Given the description of an element on the screen output the (x, y) to click on. 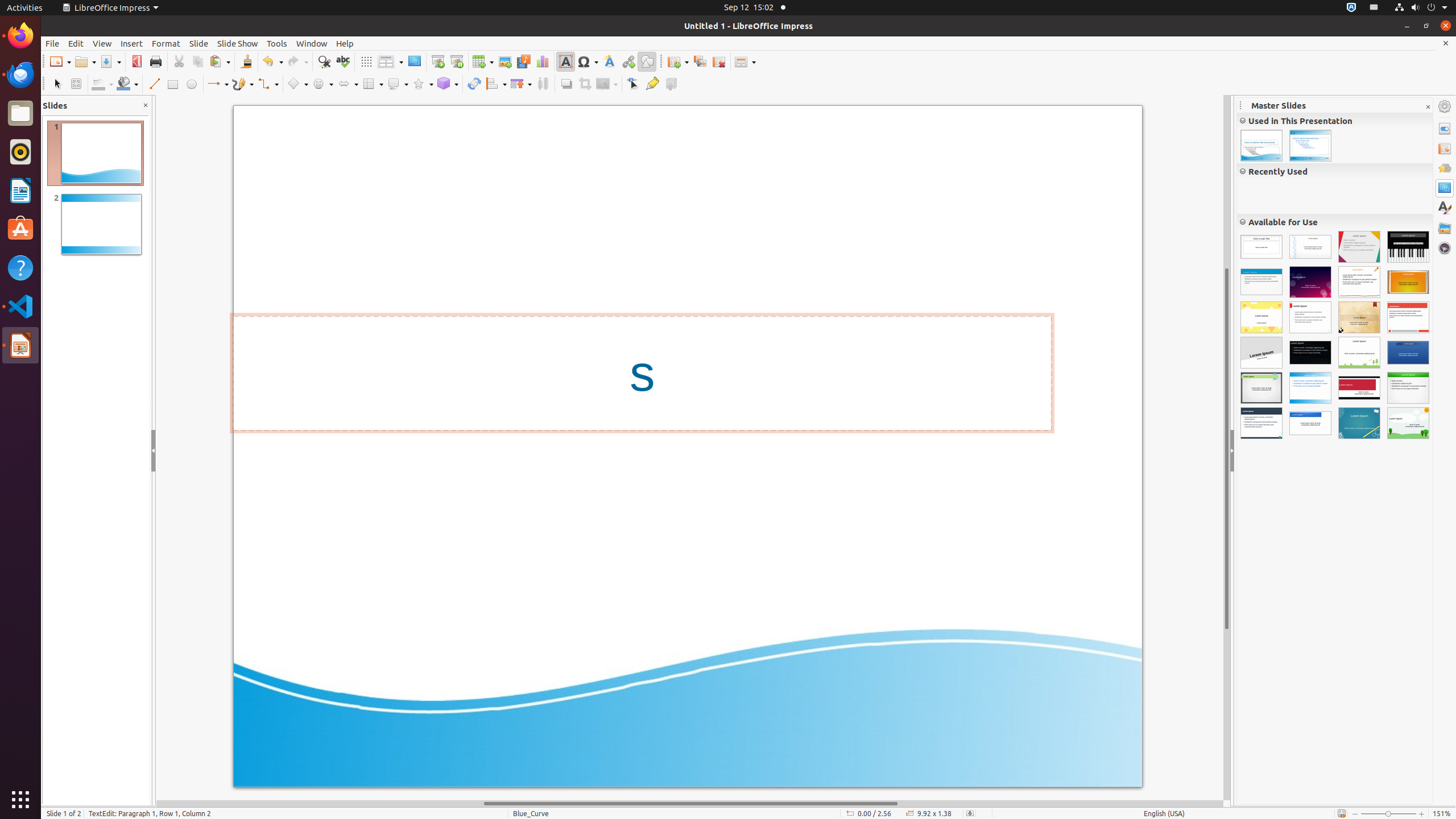
Print Element type: push-button (155, 61)
Ellipse Element type: push-button (191, 83)
Line Color Element type: push-button (101, 83)
Close Sidebar Deck Element type: push-button (1427, 106)
Paste Element type: push-button (219, 61)
